Given the description of an element on the screen output the (x, y) to click on. 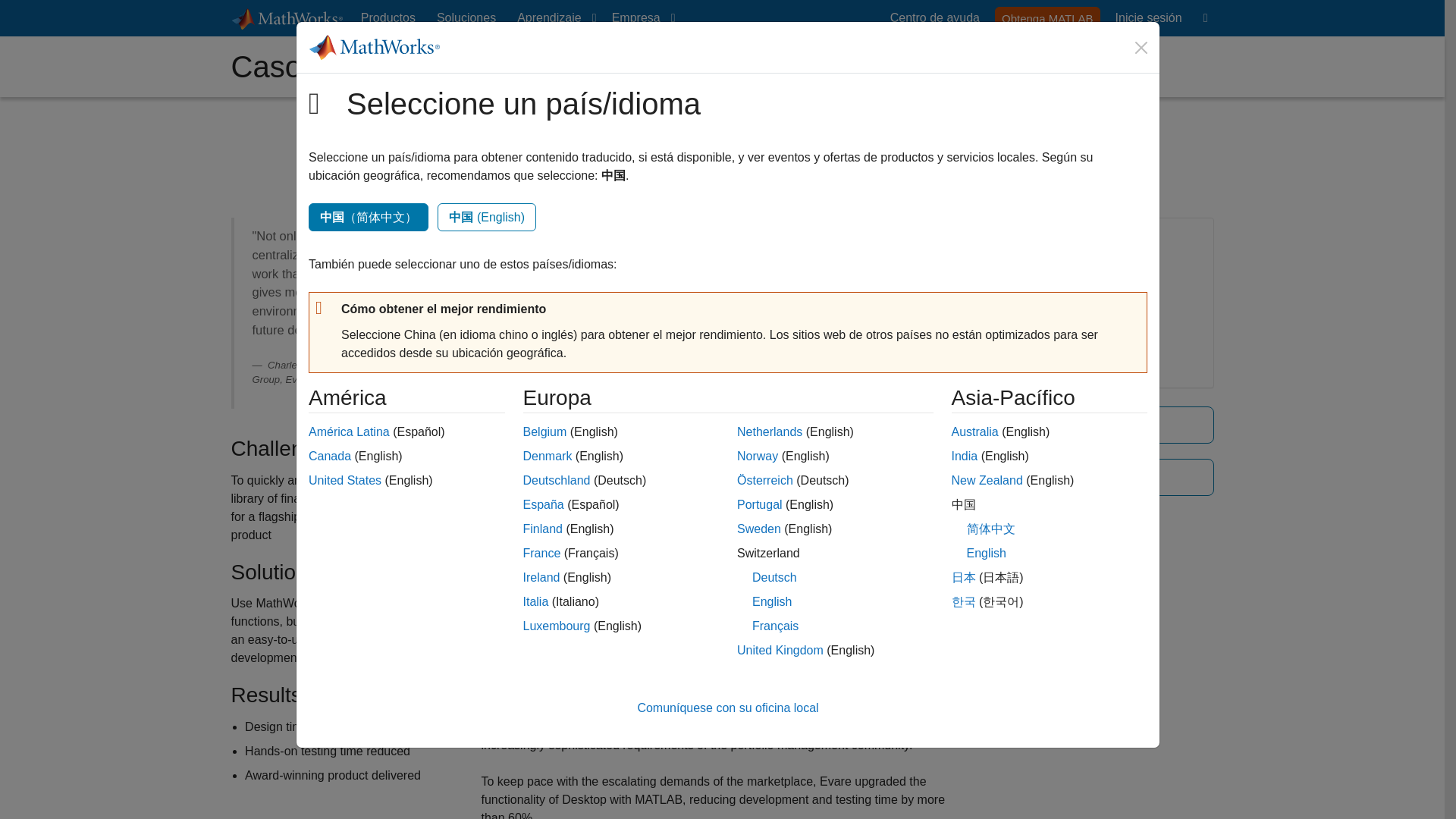
Obtenga MATLAB (1047, 17)
Centro de ayuda (934, 18)
Soluciones (466, 18)
Empresa (640, 18)
Productos (388, 18)
Aprendizaje (553, 18)
